Given the description of an element on the screen output the (x, y) to click on. 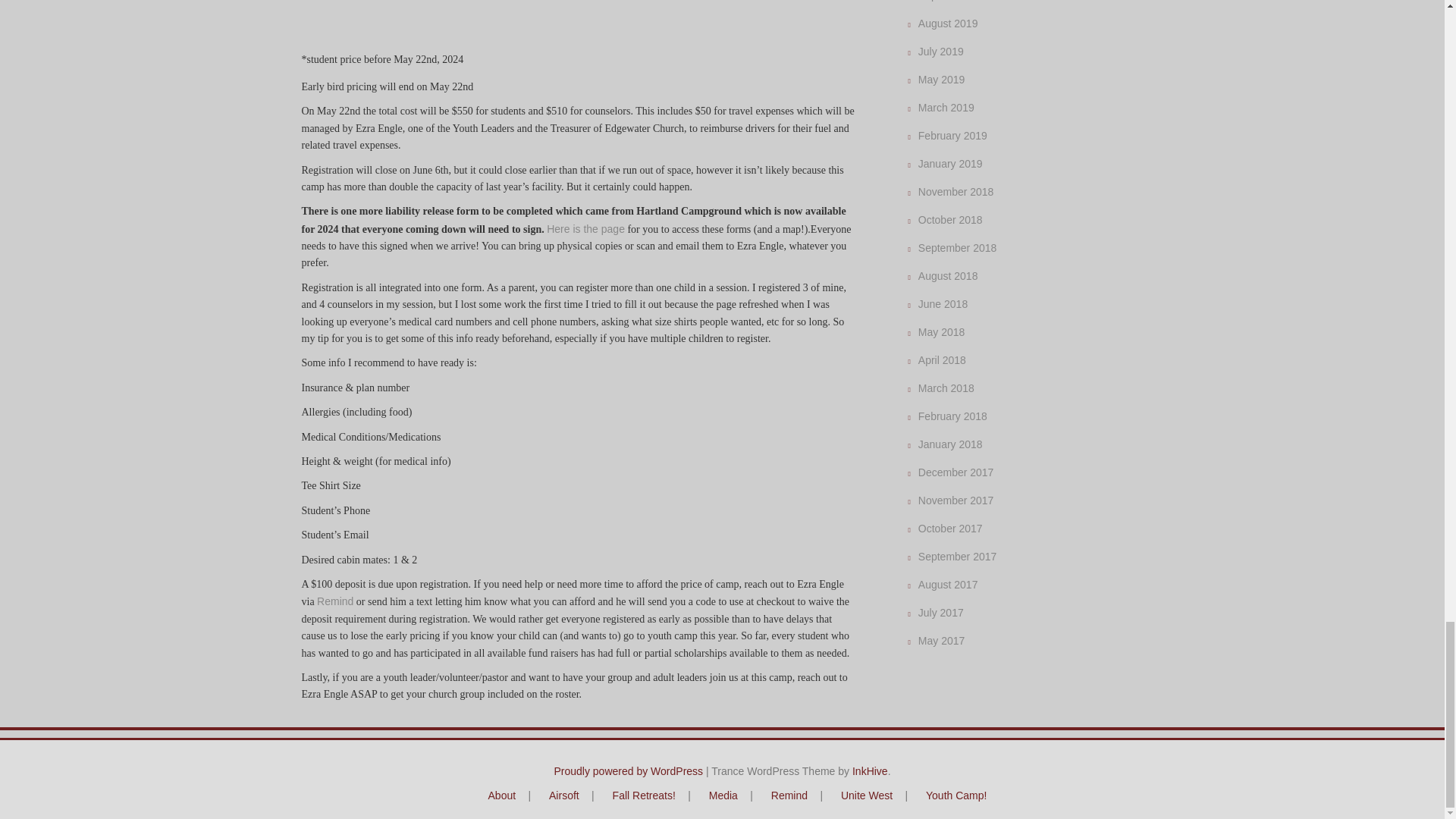
Here is the page (585, 228)
Remind (335, 601)
